Given the description of an element on the screen output the (x, y) to click on. 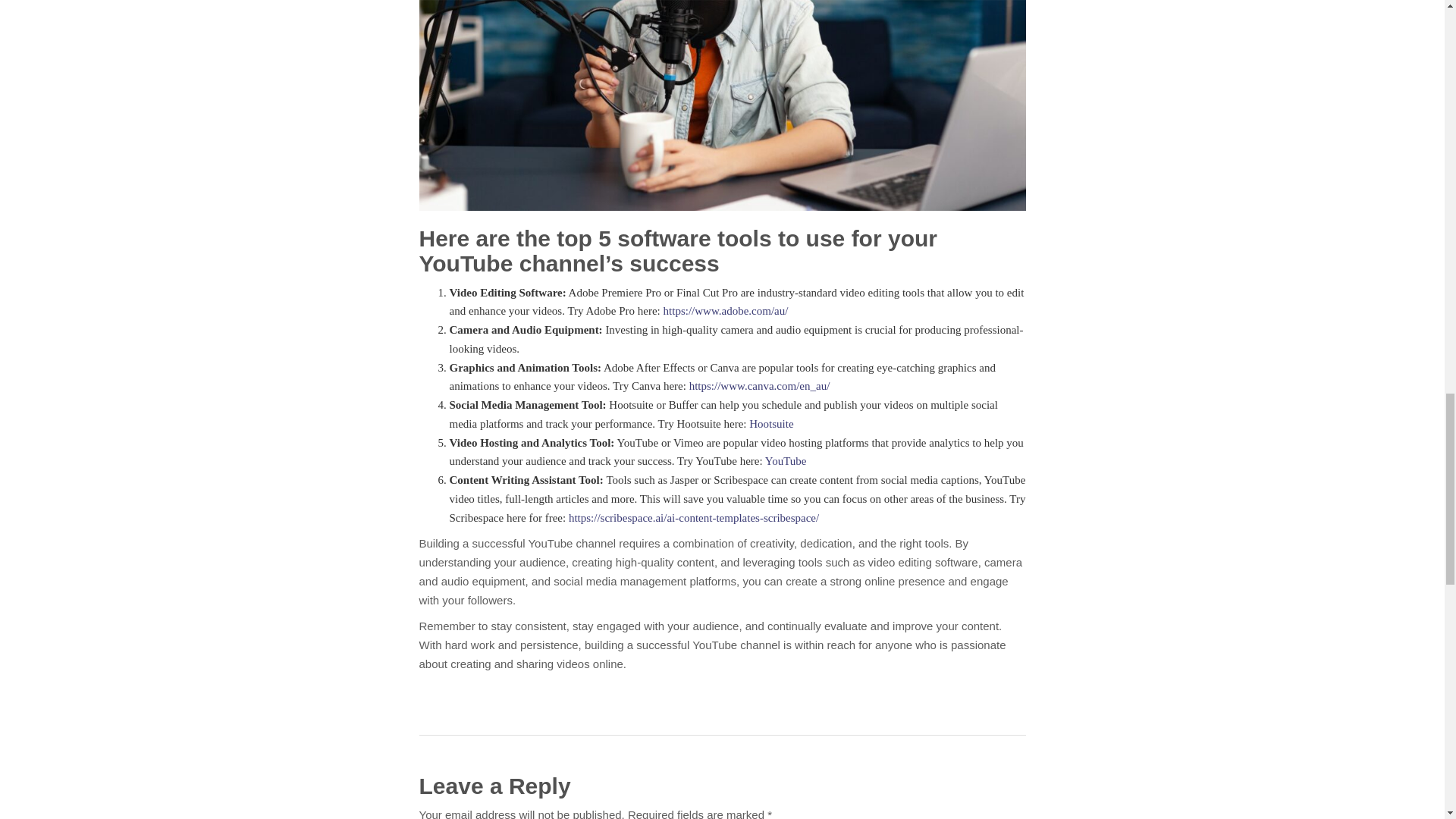
YouTube (785, 460)
Hootsuite (771, 423)
